Given the description of an element on the screen output the (x, y) to click on. 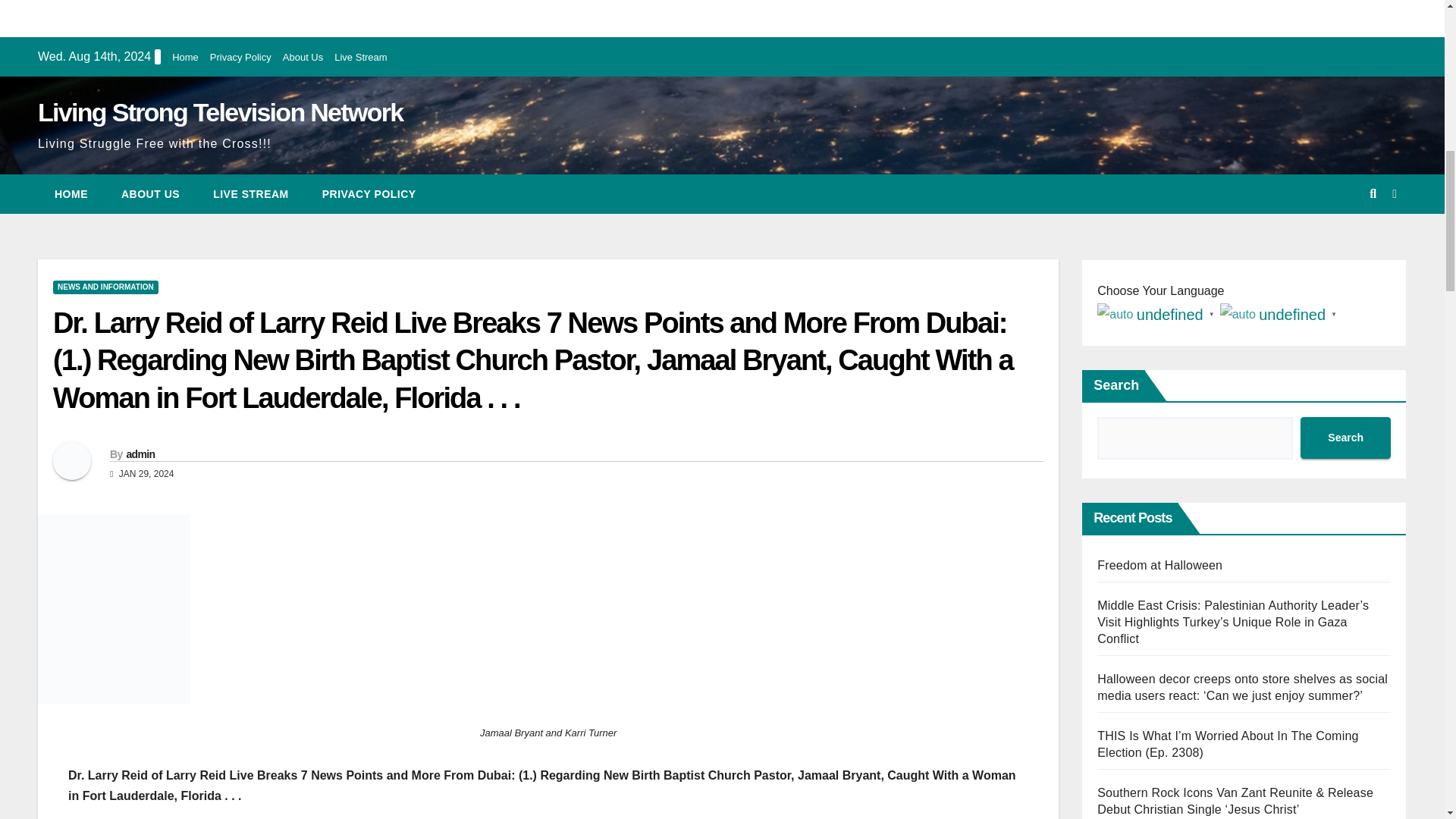
NEWS AND INFORMATION (105, 287)
LIVE STREAM (250, 193)
HOME (70, 193)
Home (184, 57)
Privacy Policy (239, 57)
ABOUT US (150, 193)
Living Strong Television Network (220, 111)
admin (139, 453)
Live Stream (360, 57)
About Us (302, 57)
